Given the description of an element on the screen output the (x, y) to click on. 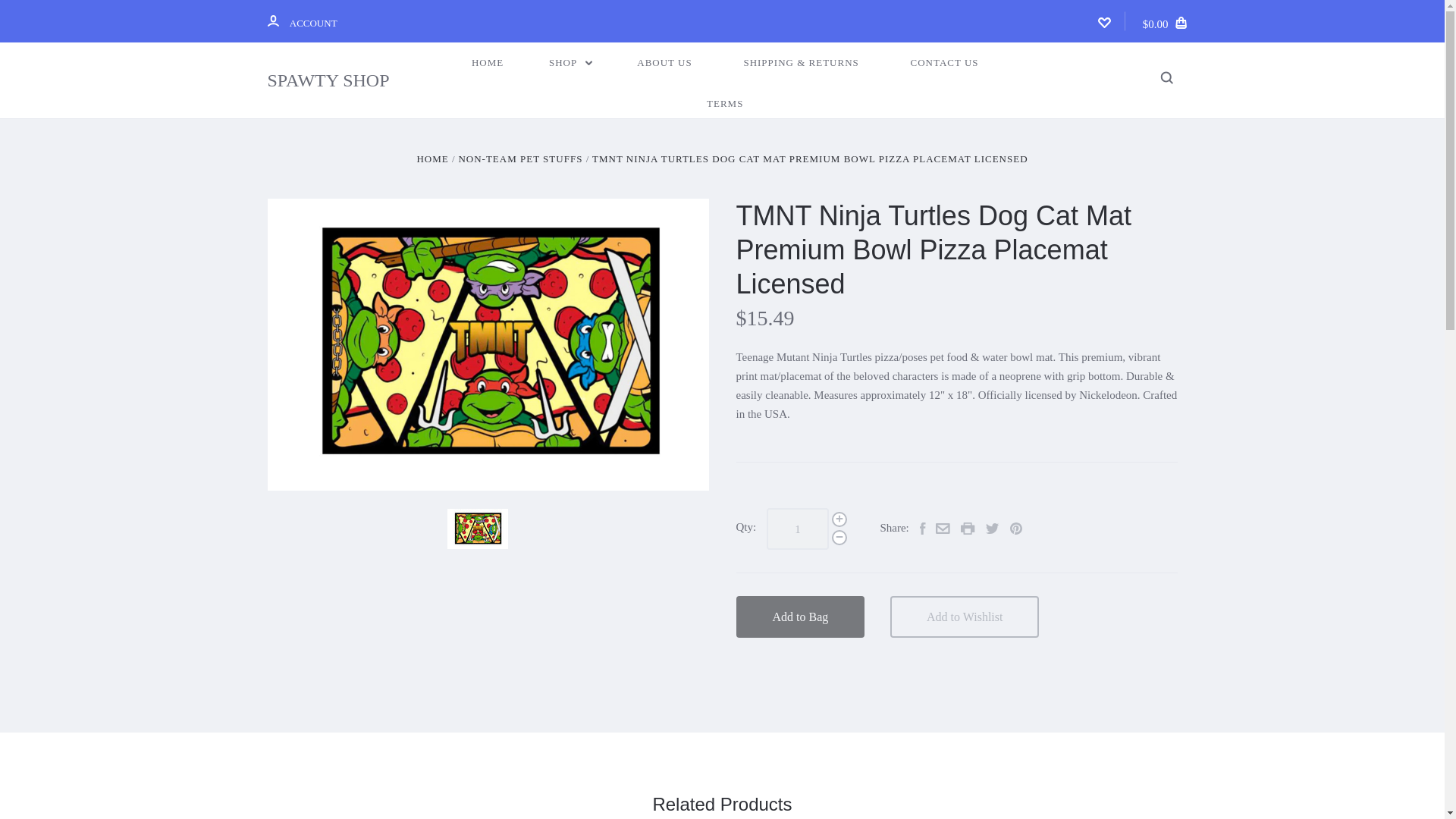
ACCOUNT ACCOUNT (301, 21)
twitter (991, 528)
printer (967, 528)
SPAWTY SHOP (339, 80)
wishlist (1103, 22)
ACCOUNT (272, 20)
HOME (487, 62)
email (943, 528)
1 (797, 528)
